Given the description of an element on the screen output the (x, y) to click on. 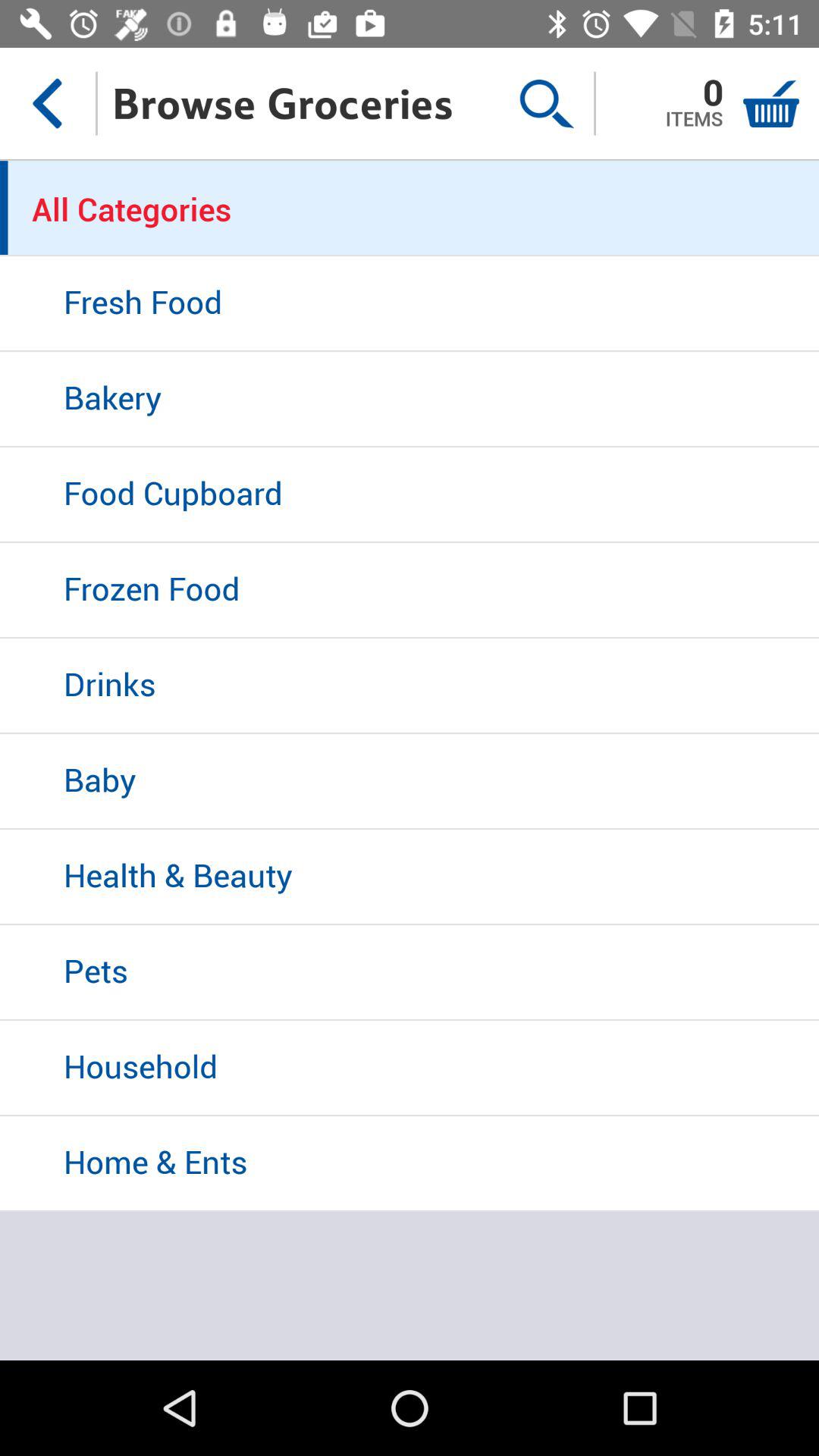
launch the fresh food item (409, 304)
